Given the description of an element on the screen output the (x, y) to click on. 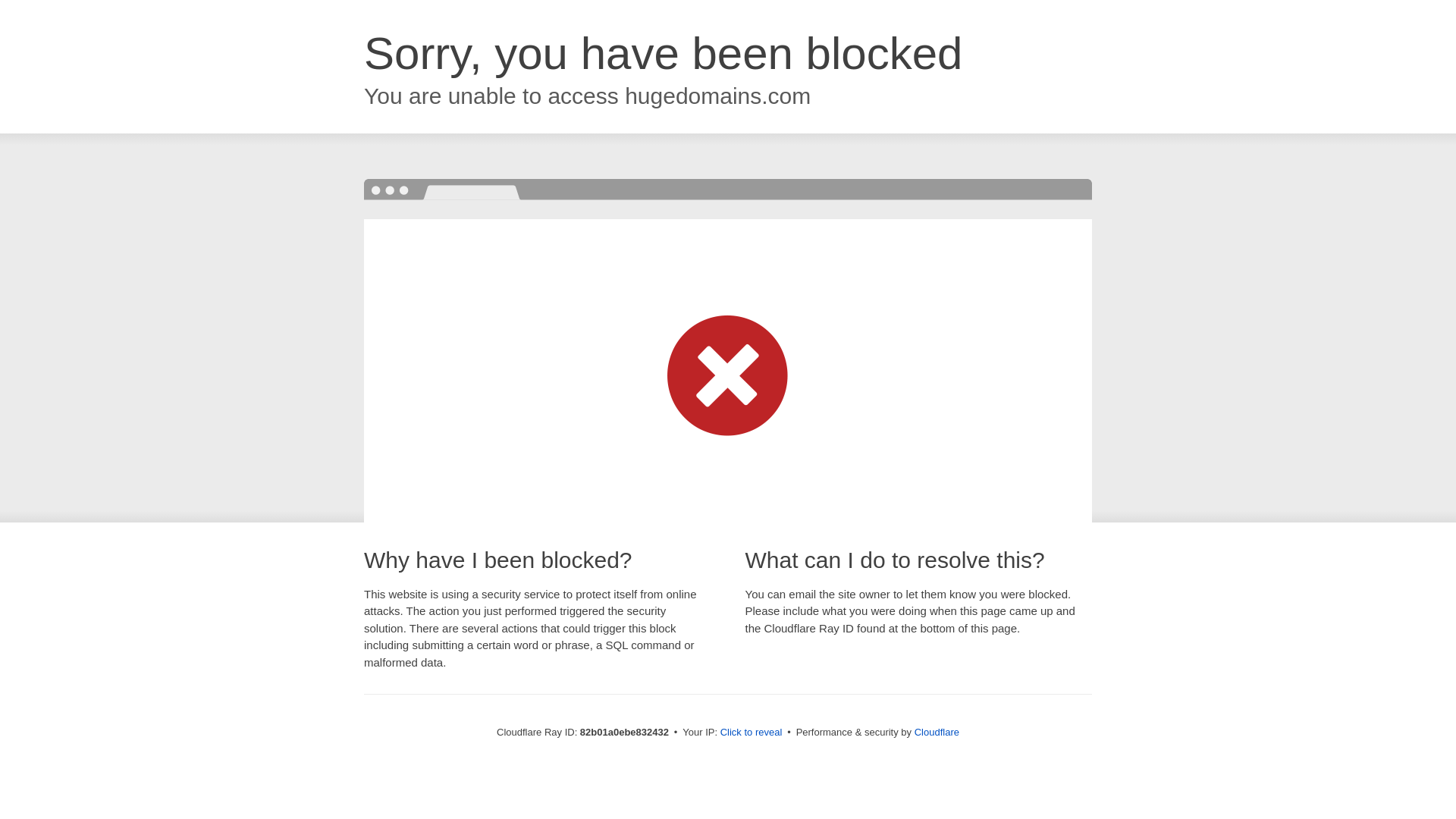
Cloudflare Element type: text (936, 731)
Click to reveal Element type: text (751, 732)
